Given the description of an element on the screen output the (x, y) to click on. 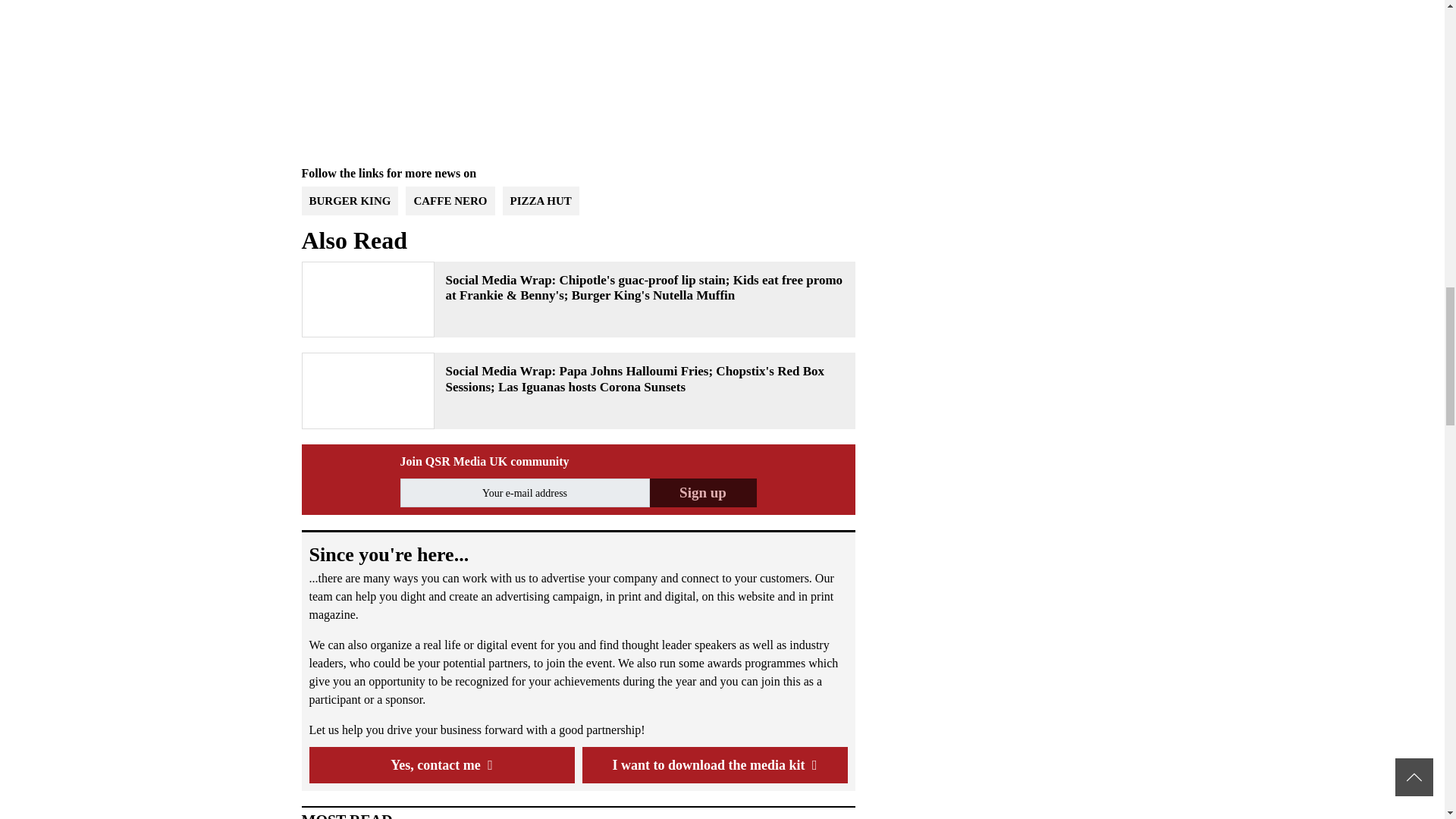
Sign up (702, 492)
Please enter a valid email (524, 492)
